Given the description of an element on the screen output the (x, y) to click on. 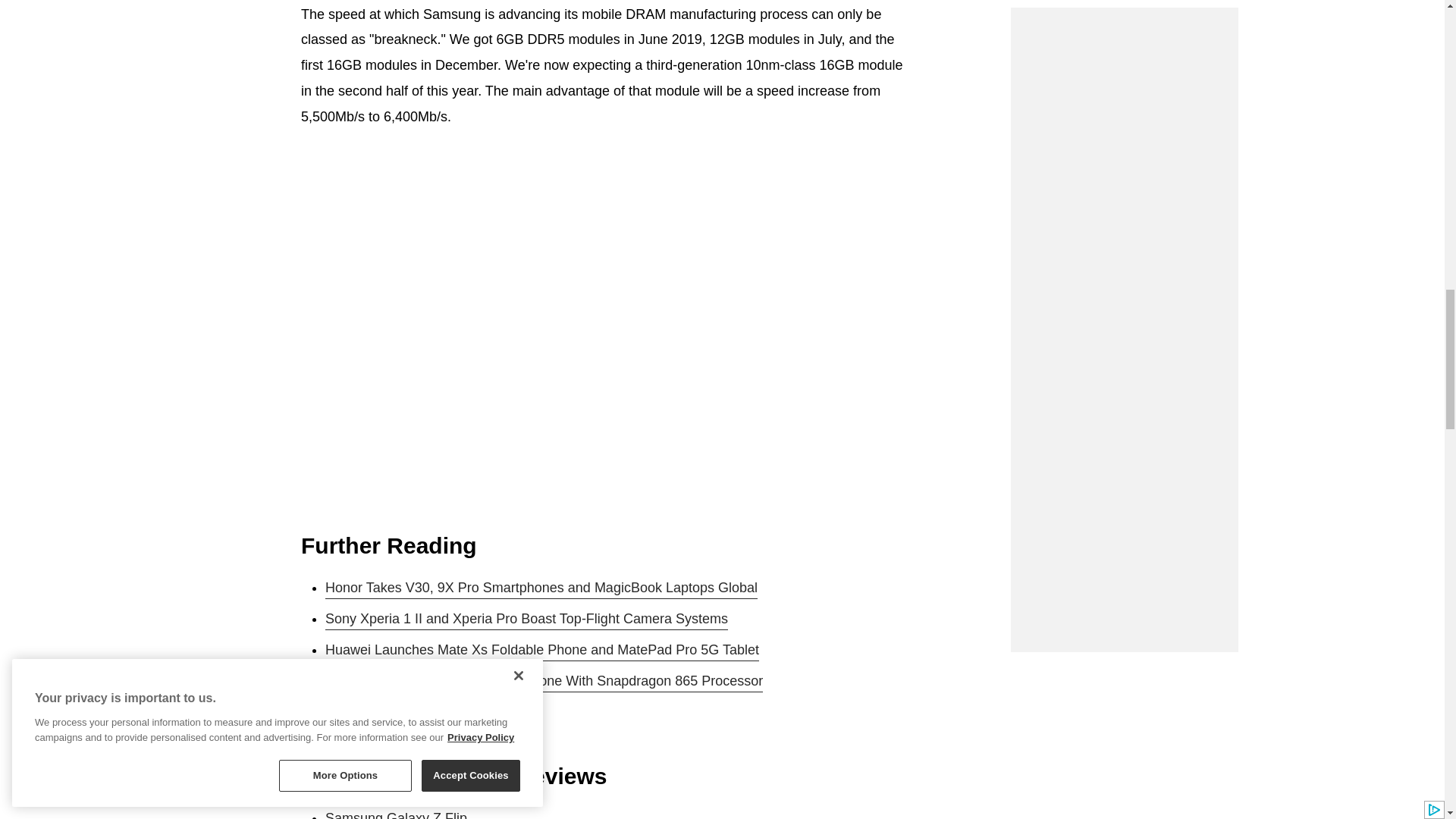
3rd party ad content (1123, 20)
